Given the description of an element on the screen output the (x, y) to click on. 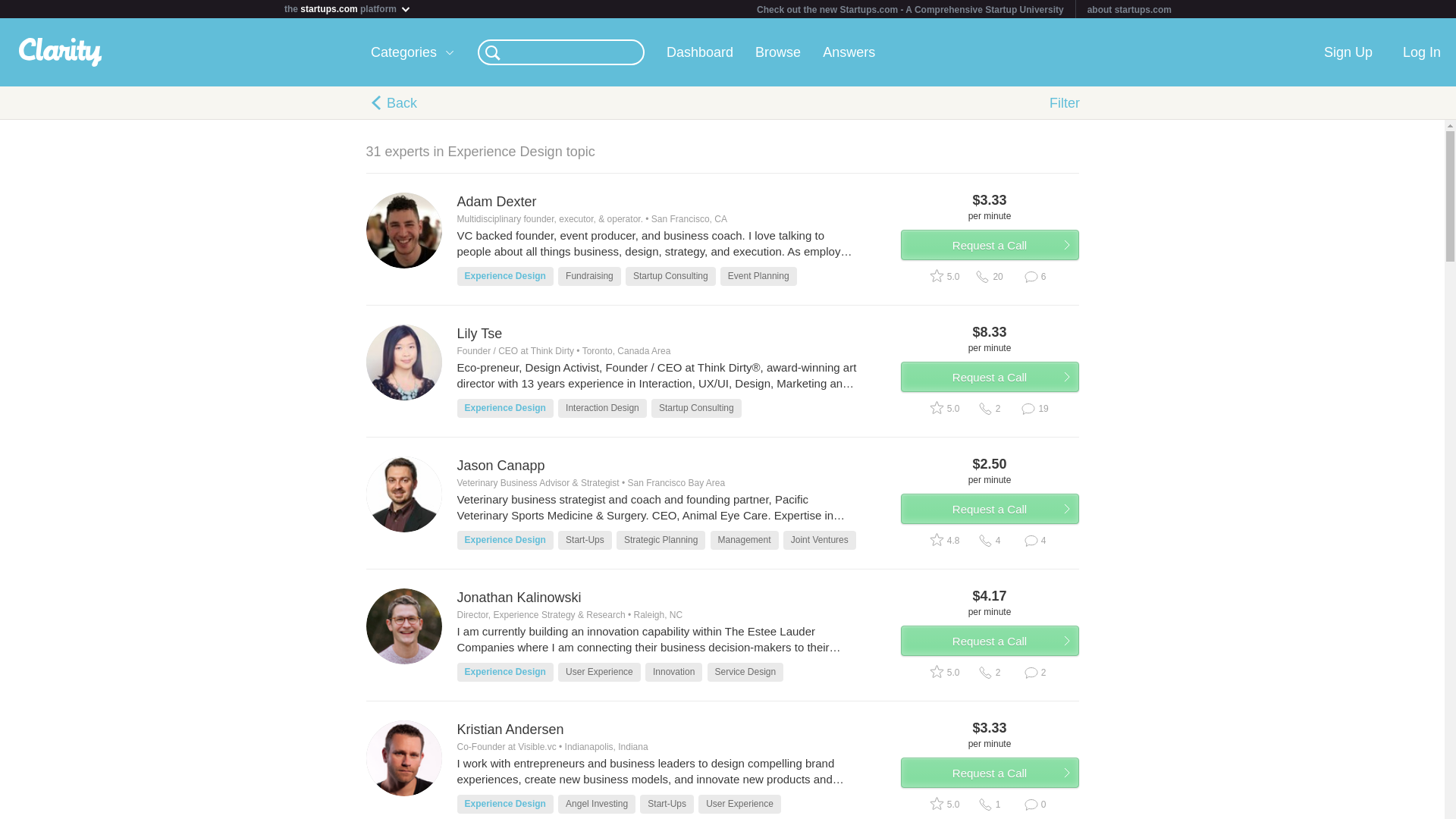
the startups.com platform (351, 6)
about startups.com (1129, 9)
